Given the description of an element on the screen output the (x, y) to click on. 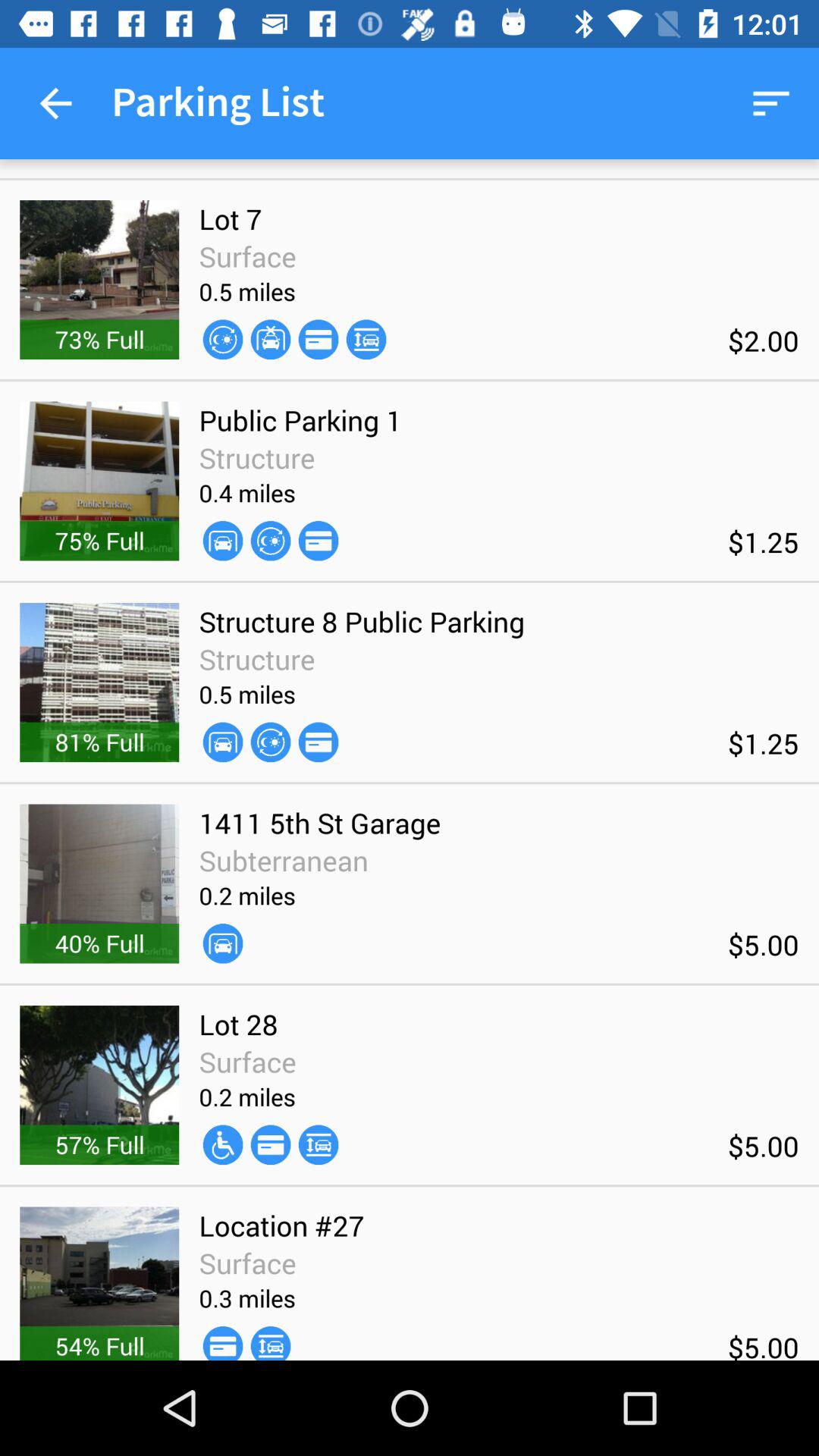
turn off the item below the 0.3 miles (270, 1343)
